Given the description of an element on the screen output the (x, y) to click on. 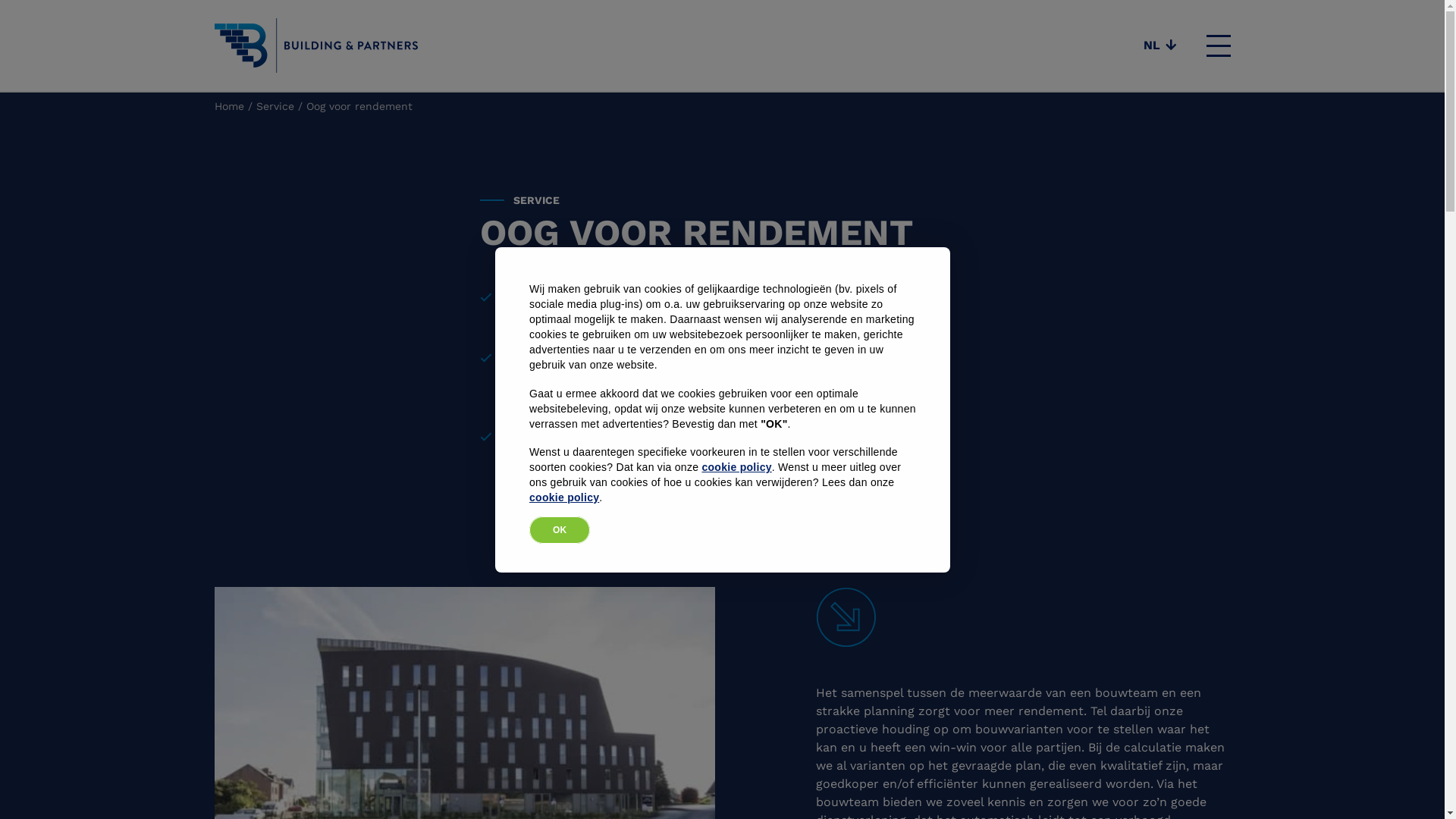
Service Element type: text (275, 106)
cookie policy Element type: text (736, 466)
Home Element type: text (228, 106)
Building & Partners Element type: hover (315, 45)
NL Element type: text (1159, 45)
cookie policy Element type: text (564, 497)
